Given the description of an element on the screen output the (x, y) to click on. 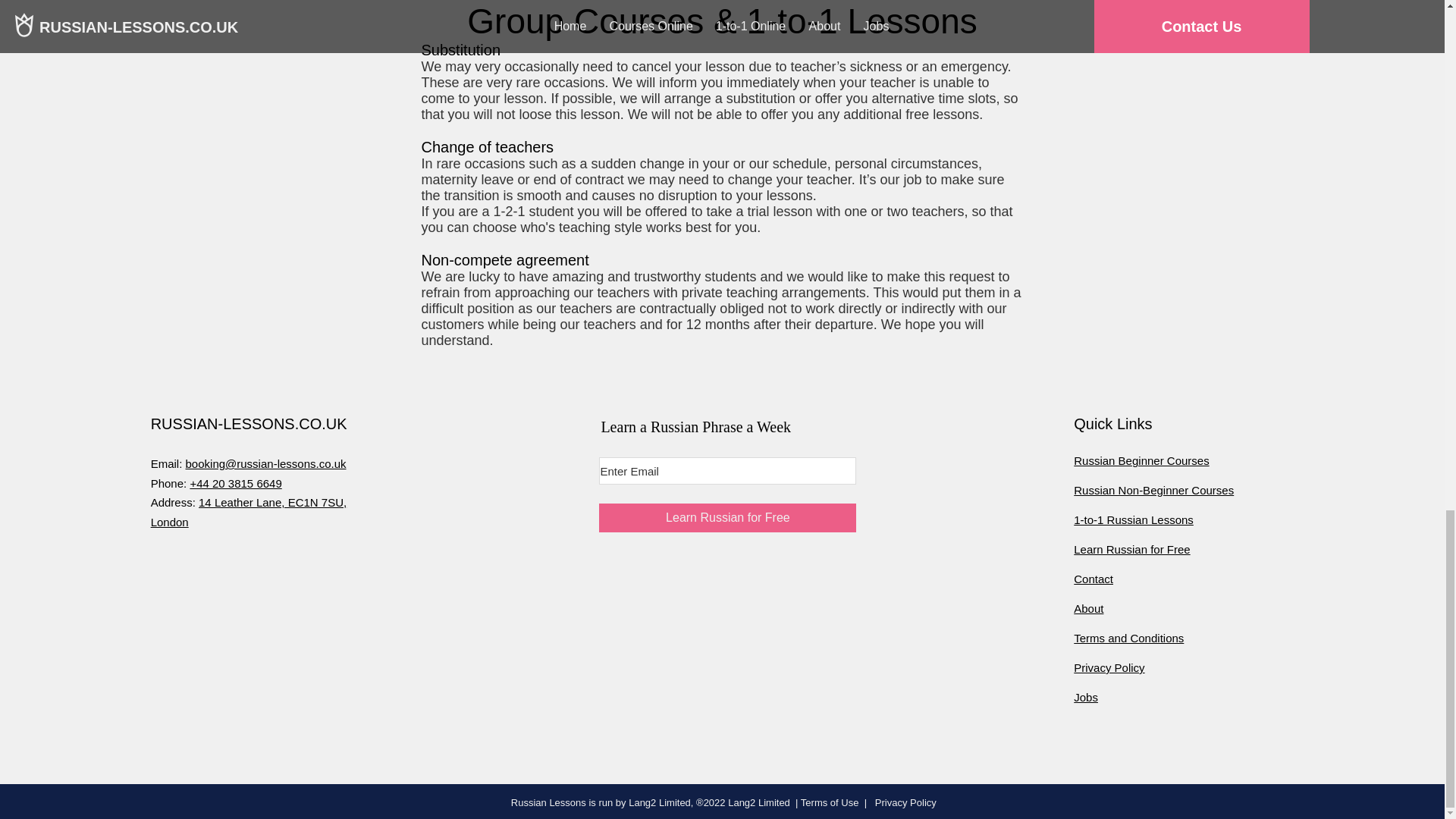
Contact (1093, 578)
Russian Non-Beginner Courses (1153, 490)
Learn Russian for Free (1131, 549)
Privacy Policy (1109, 667)
 Privacy Policy (904, 801)
14 Leather Lane, EC1N 7SU, London (249, 512)
Terms and Conditions (1128, 637)
Learn Russian for Free (727, 517)
1-to-1 Russian Lessons (1133, 519)
About (1088, 608)
